Given the description of an element on the screen output the (x, y) to click on. 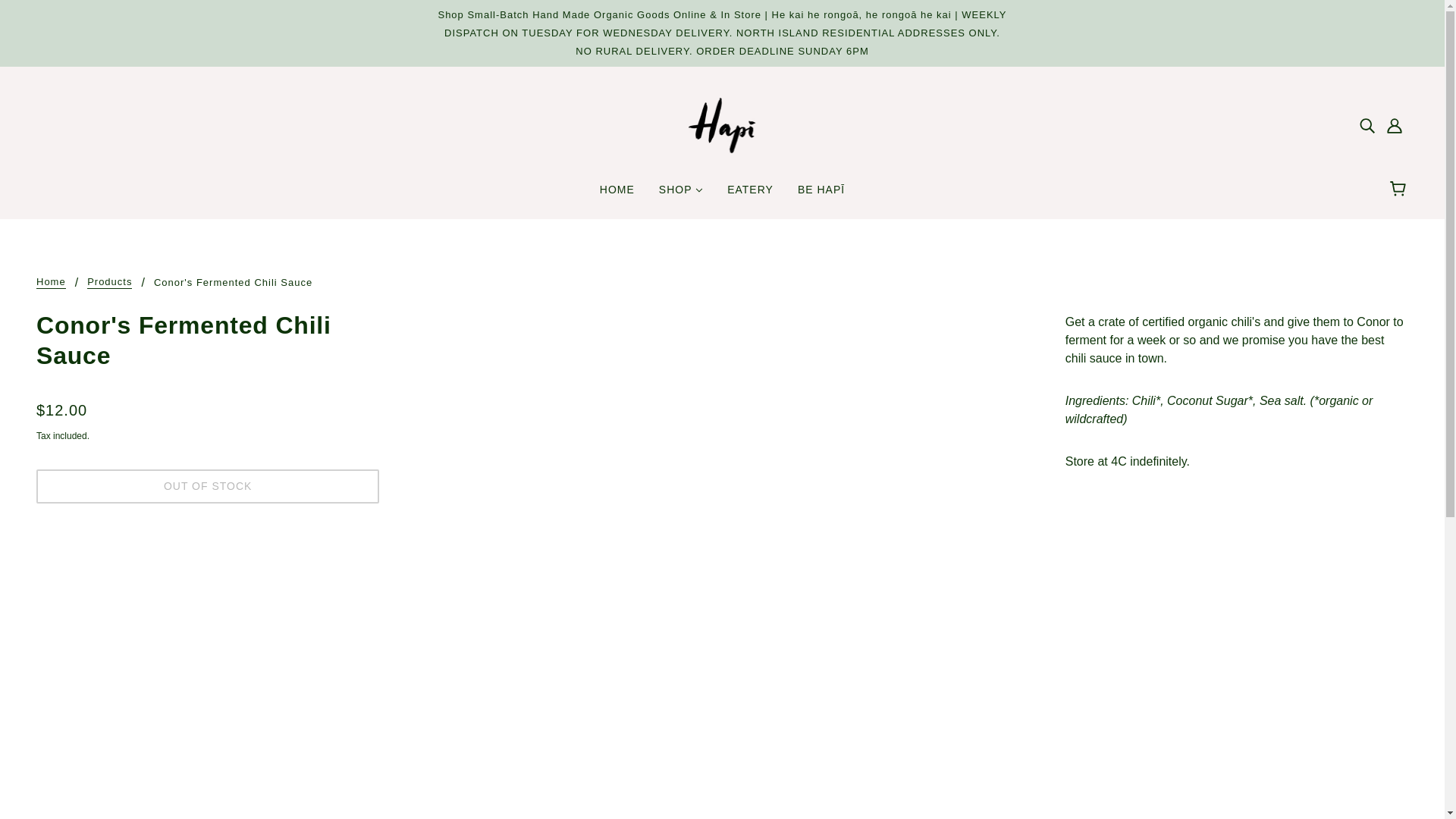
SHOP (680, 195)
Home (50, 282)
HOME (617, 195)
EATERY (750, 195)
OUT OF STOCK (207, 486)
Products (109, 282)
